Given the description of an element on the screen output the (x, y) to click on. 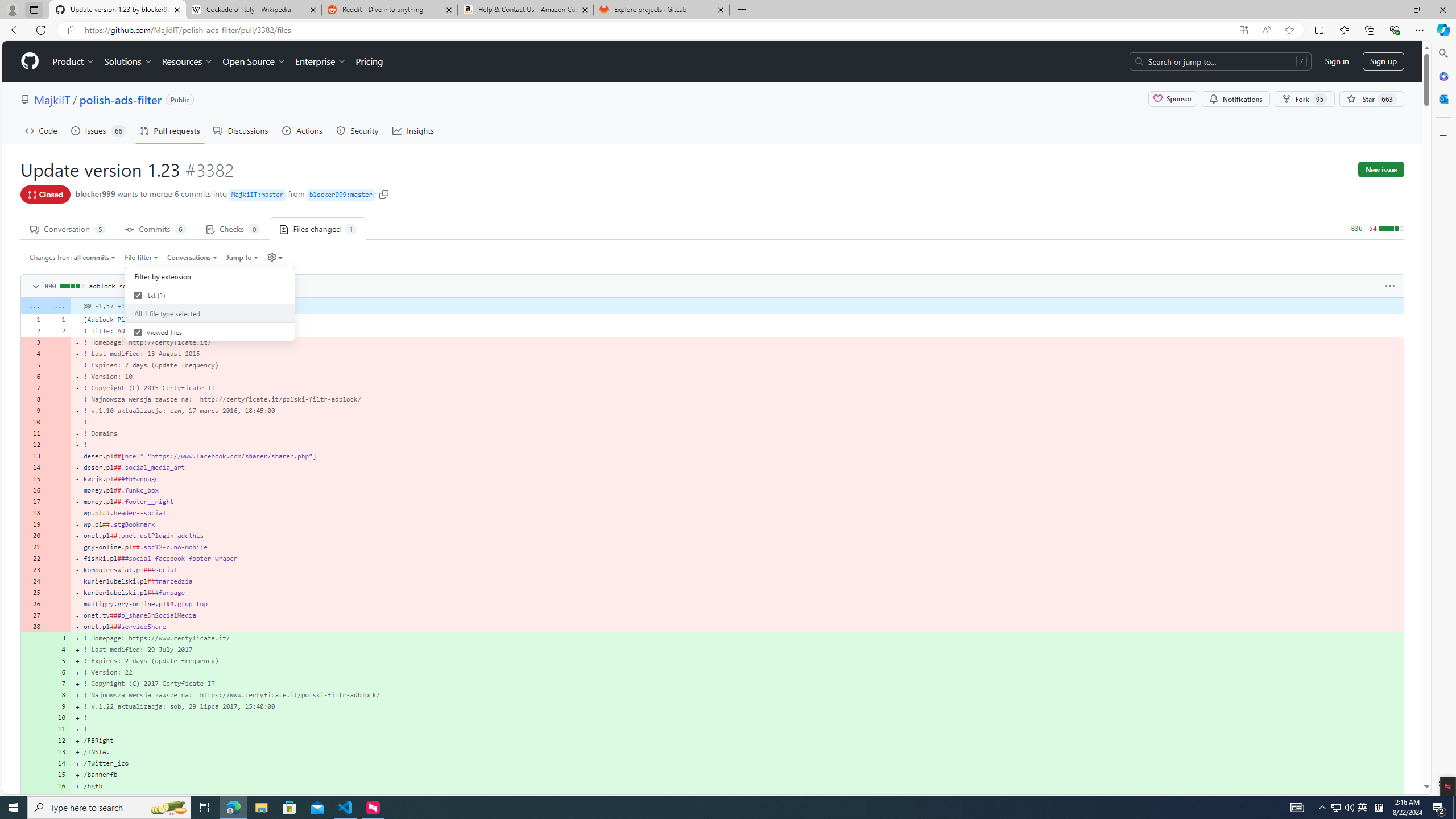
Actions (302, 130)
Class: blob-num blob-num-addition empty-cell (33, 797)
+ ! v.1.22 aktualizacja: sob, 29 lipca 2017, 15:40:00  (737, 706)
+ ! Homepage: https://www.certyficate.it/ (737, 637)
